Given the description of an element on the screen output the (x, y) to click on. 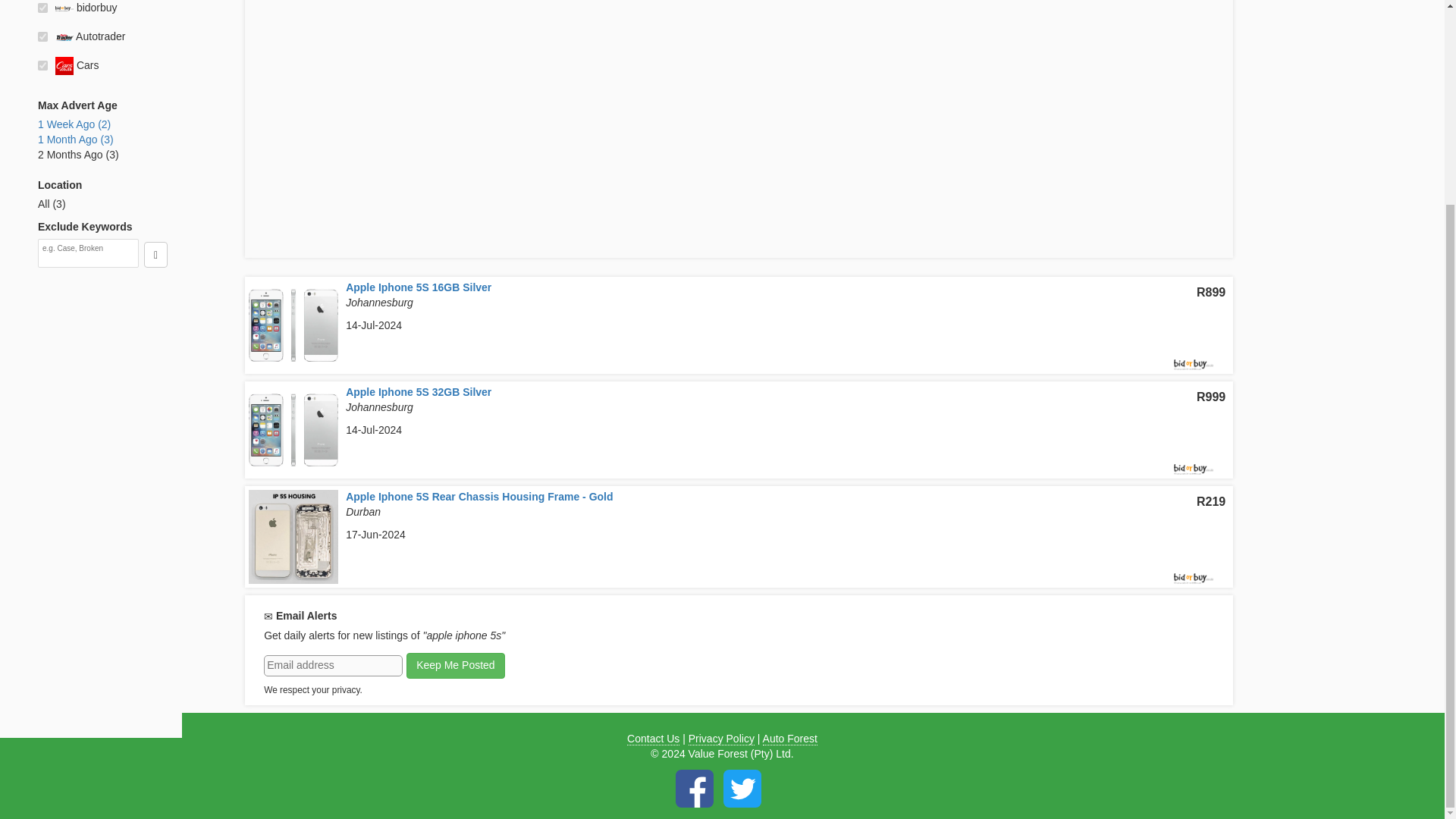
Apple Iphone 5S 16GB Silver (419, 287)
Contact Us (653, 738)
cars (42, 65)
Apple Iphone 5S Rear Chassis Housing Frame - Gold (479, 496)
Advertisement (1349, 193)
Privacy Policy (721, 738)
Privacy Policy (721, 738)
at (42, 36)
Contact Us (653, 738)
Auto Forest (789, 738)
Advertisement (109, 509)
Apple Iphone 5S 32GB Silver (419, 391)
bidorbuy (42, 8)
Keep Me Posted (455, 665)
